Given the description of an element on the screen output the (x, y) to click on. 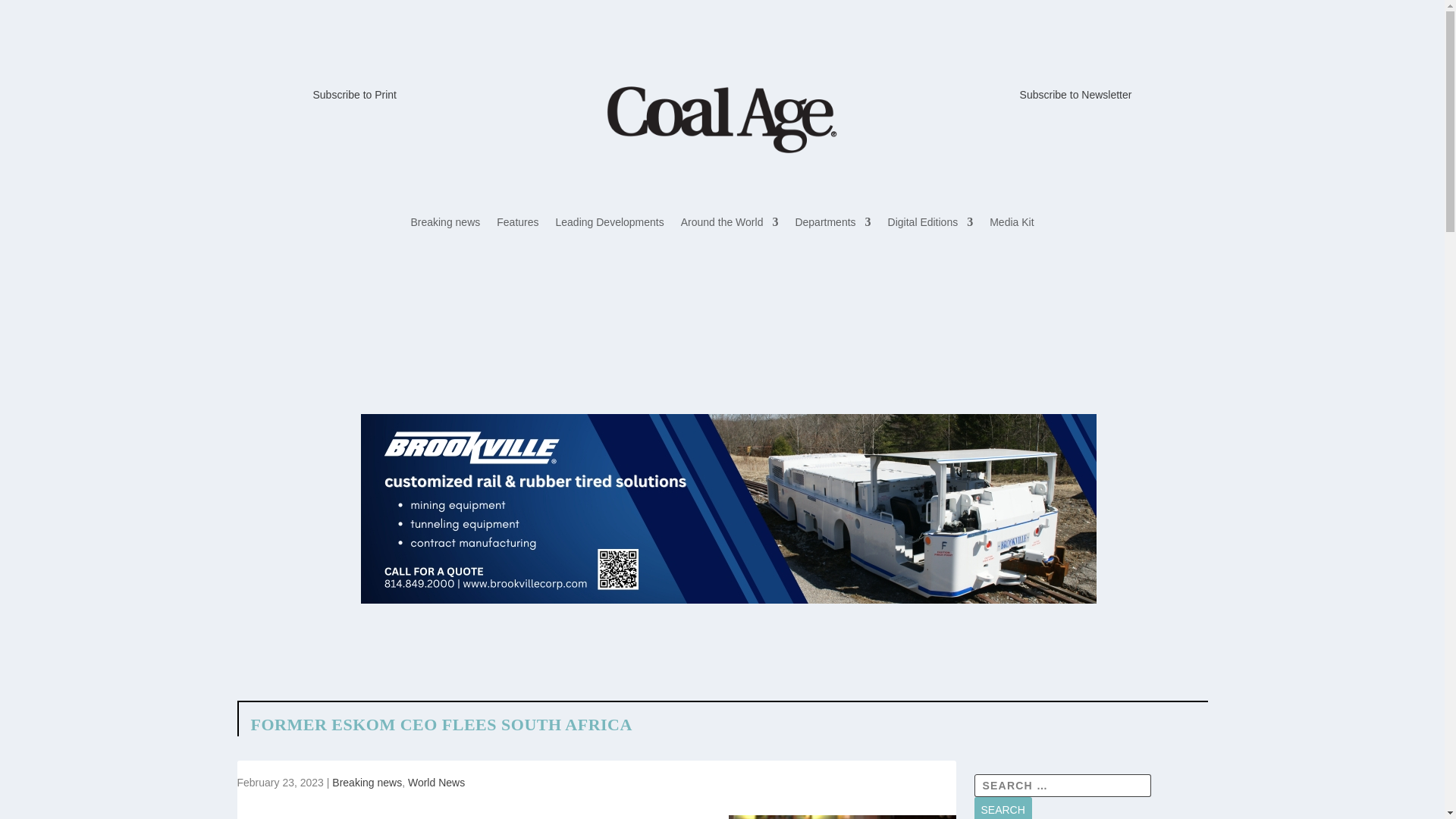
Coal Age logo (721, 119)
Search (1002, 807)
Digital Editions (931, 225)
Departments (832, 225)
Subscribe to Print (354, 94)
Media Kit (1011, 225)
Around the World (729, 225)
Leading Developments (609, 225)
Breaking news (445, 225)
Subscribe to Newsletter (1076, 94)
